Given the description of an element on the screen output the (x, y) to click on. 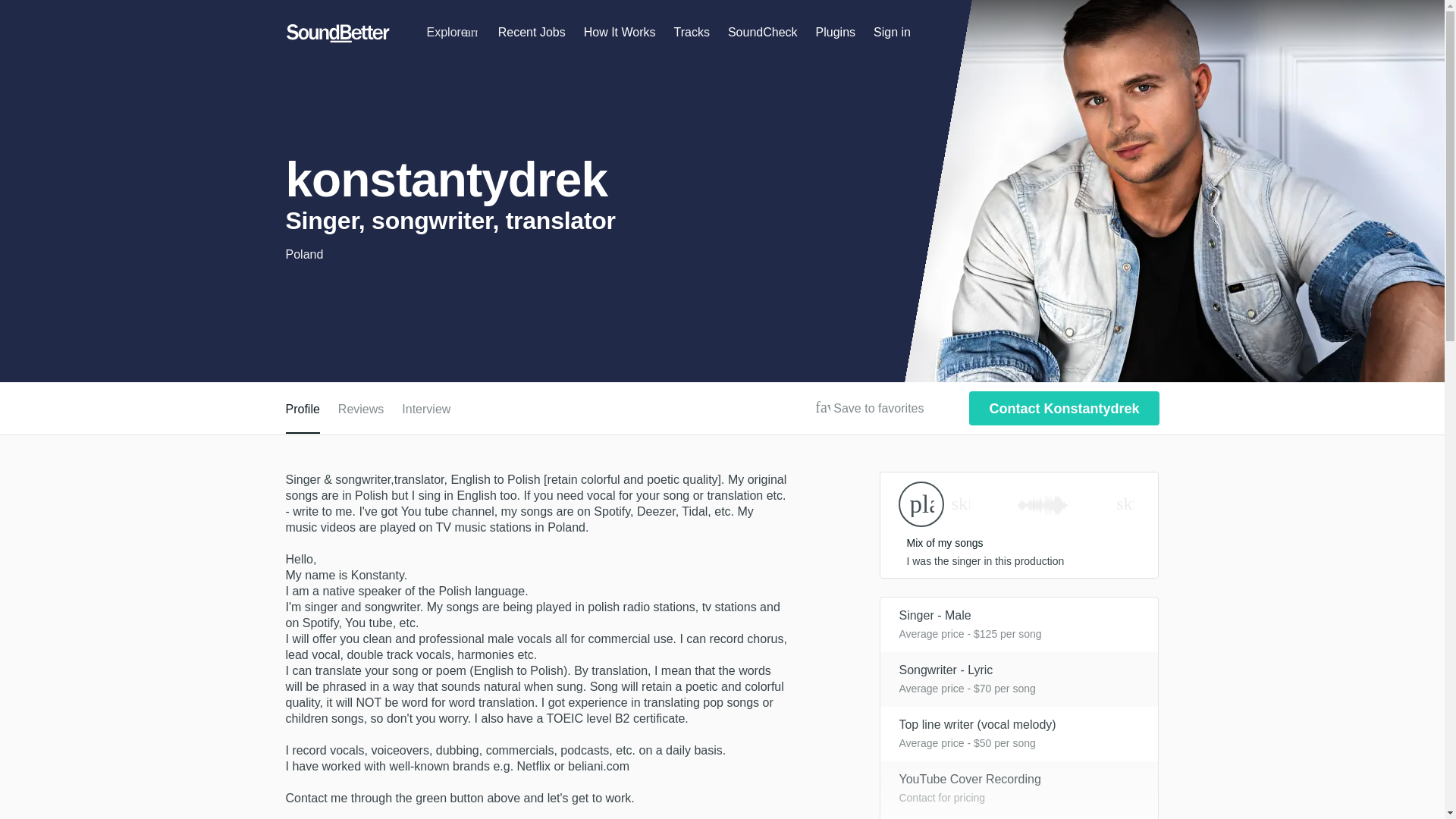
SoundBetter (337, 33)
